Given the description of an element on the screen output the (x, y) to click on. 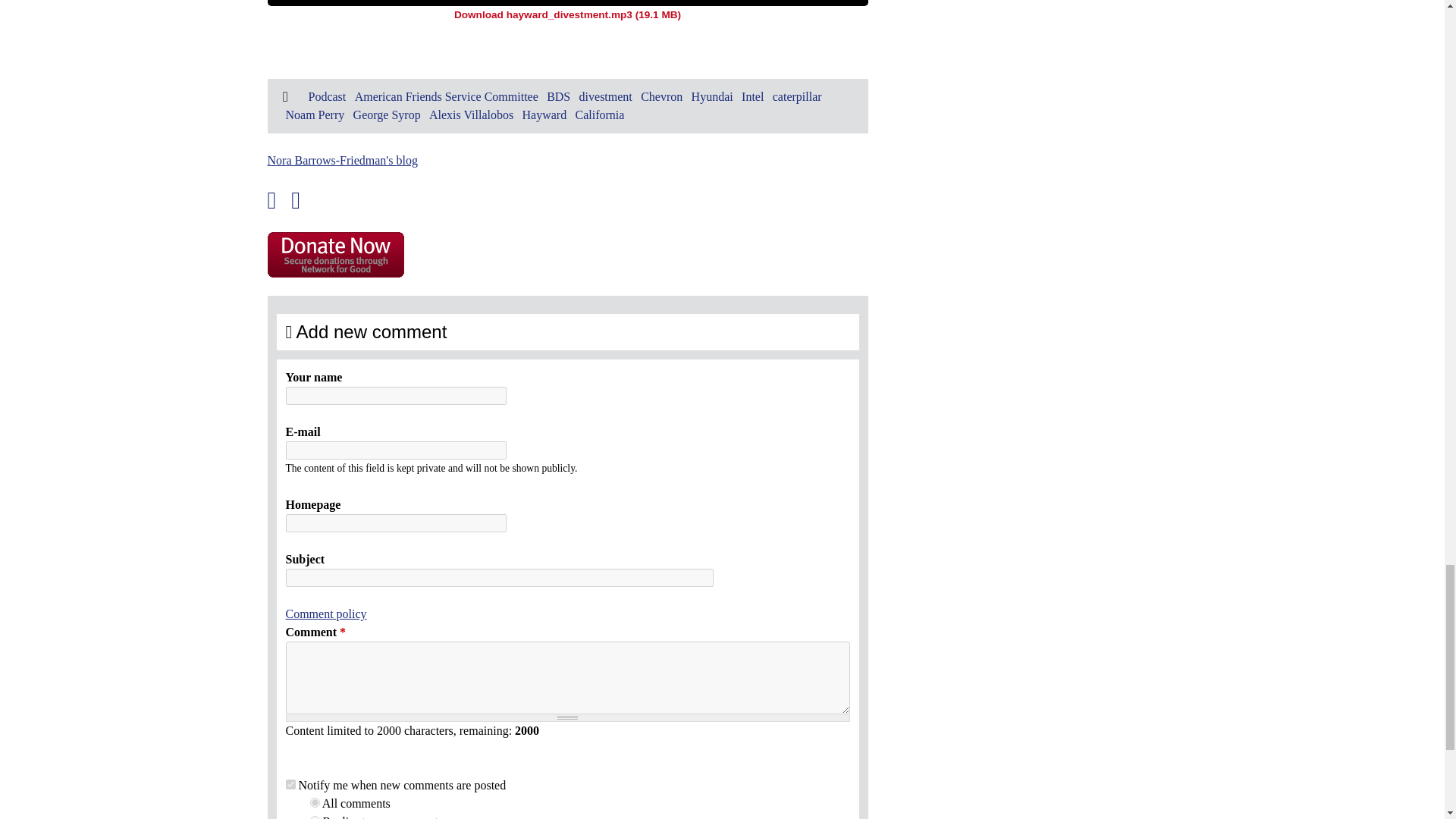
1 (313, 802)
BDS (558, 96)
divestment (605, 96)
Podcast (326, 96)
Hyundai (712, 96)
caterpillar (797, 96)
Chevron (661, 96)
1 (290, 784)
2 (313, 817)
Read Nora Barrows-Friedman's latest blog entries. (341, 160)
This field is required. (342, 631)
Noam Perry (314, 114)
American Friends Service Committee (446, 96)
Intel (751, 96)
